Given the description of an element on the screen output the (x, y) to click on. 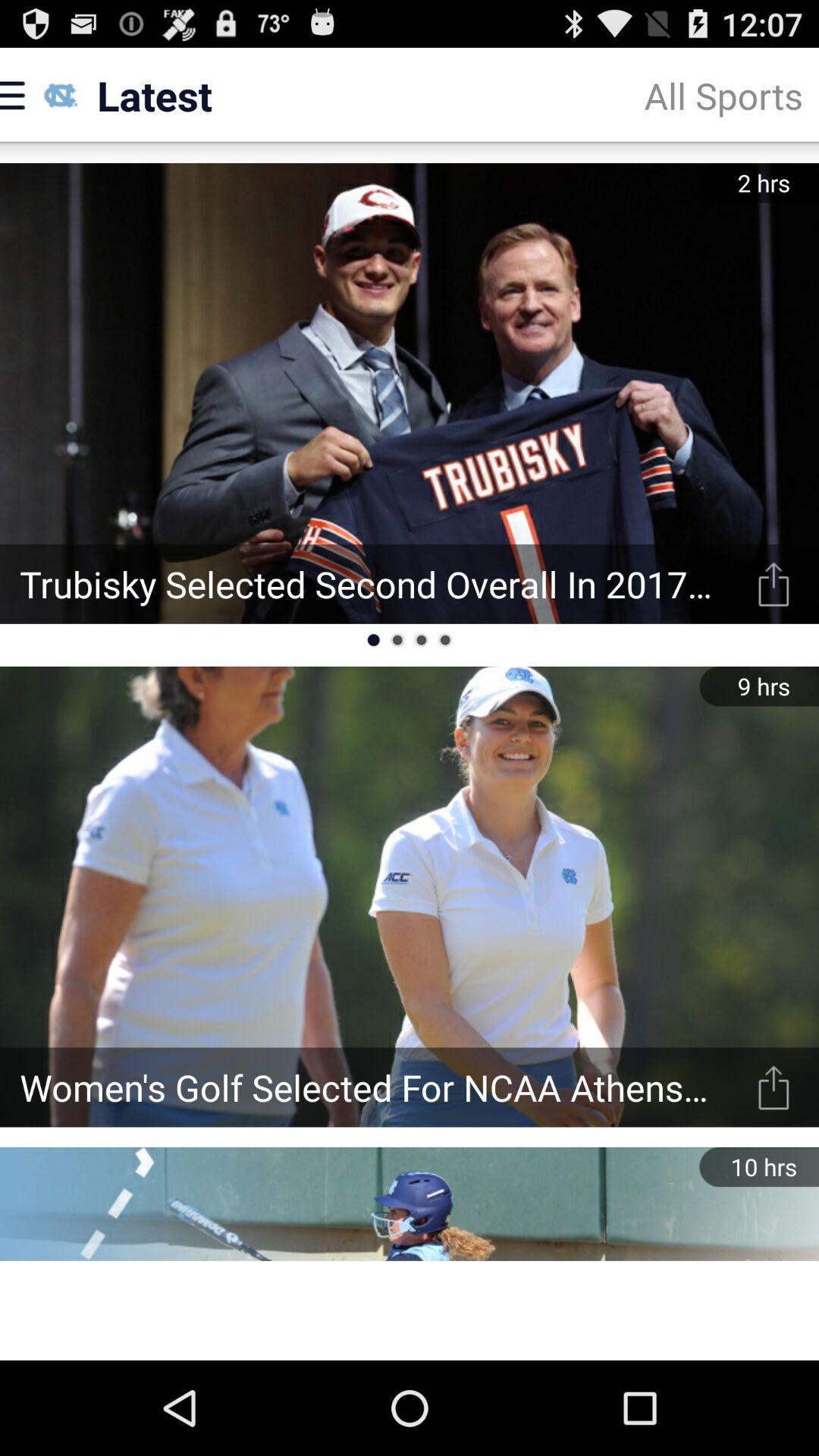
go to top (773, 1087)
